Given the description of an element on the screen output the (x, y) to click on. 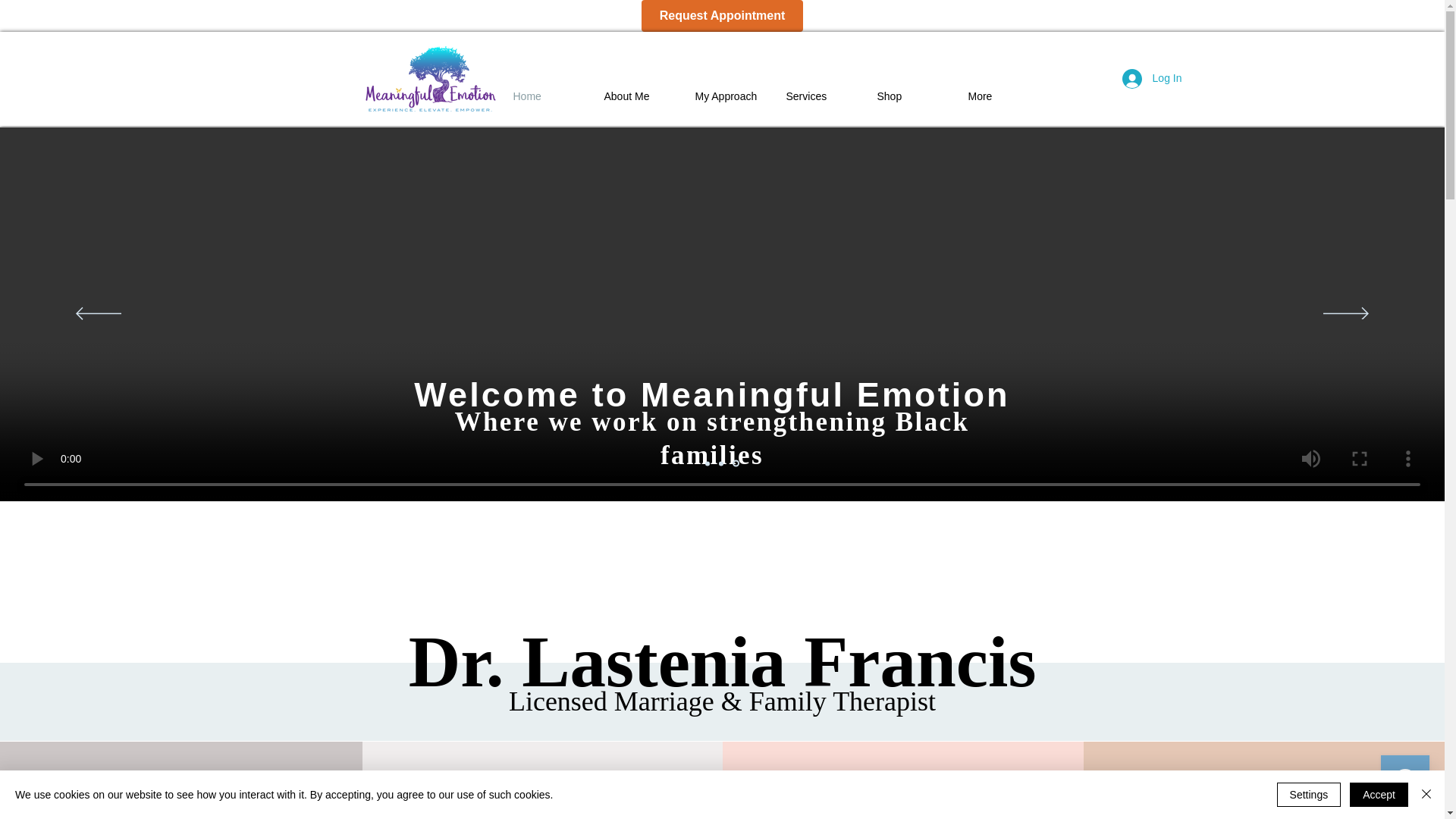
Accept (1378, 794)
Shop (911, 96)
Home (547, 96)
About Me (638, 96)
Request Appointment (722, 15)
Settings (1308, 794)
My Approach (729, 96)
Log In (1152, 78)
Services (820, 96)
